Given the description of an element on the screen output the (x, y) to click on. 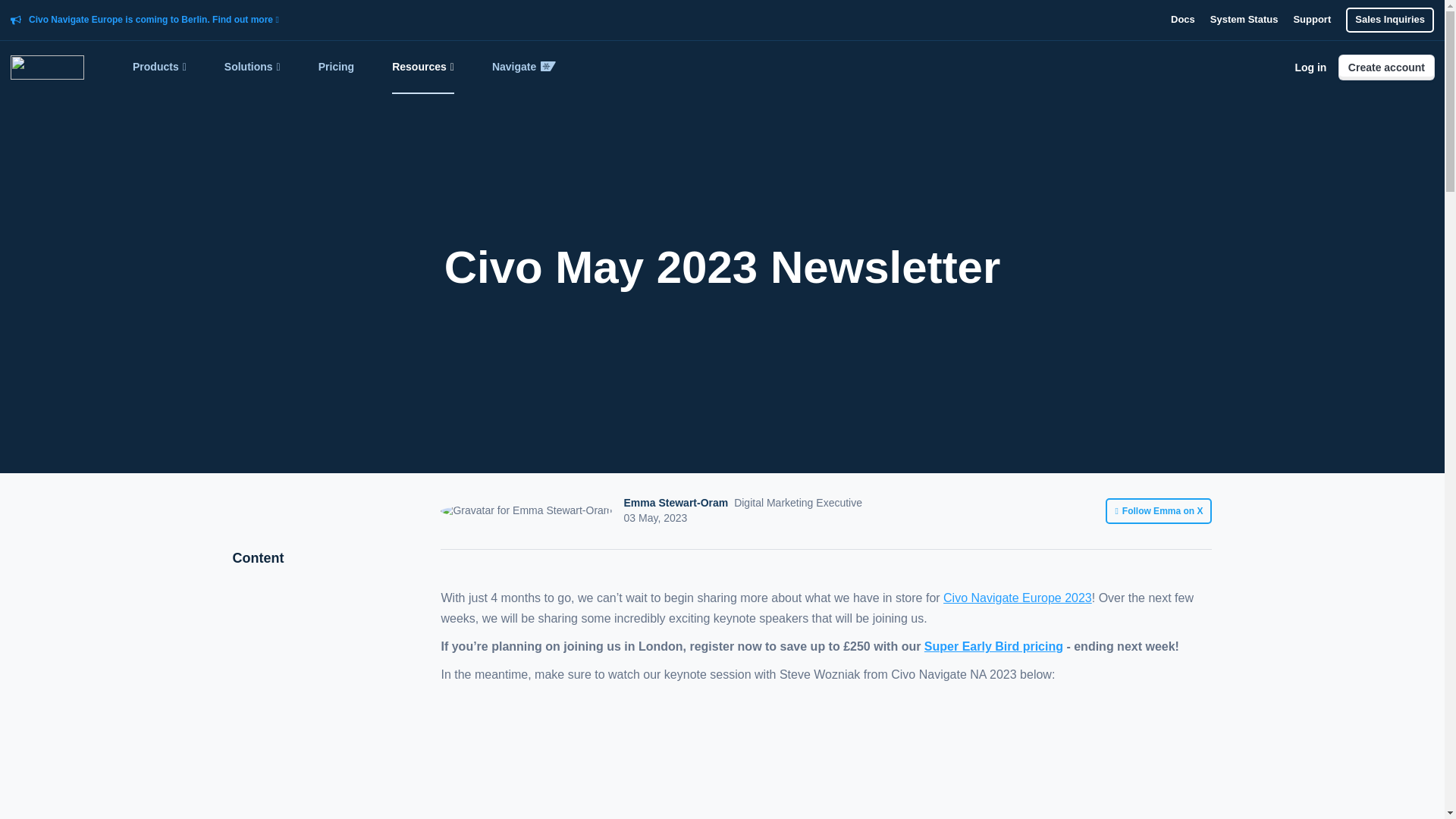
Civo Navigate Europe is coming to Berlin. Find out more (154, 19)
Steve Wozniak at Civo Navigate NA 2023 (826, 755)
Sales Inquiries (1389, 19)
Resources (422, 67)
Solutions (252, 67)
Navigate (524, 67)
Support (1311, 20)
System Status (1243, 20)
Docs (1182, 20)
Products (159, 67)
